Given the description of an element on the screen output the (x, y) to click on. 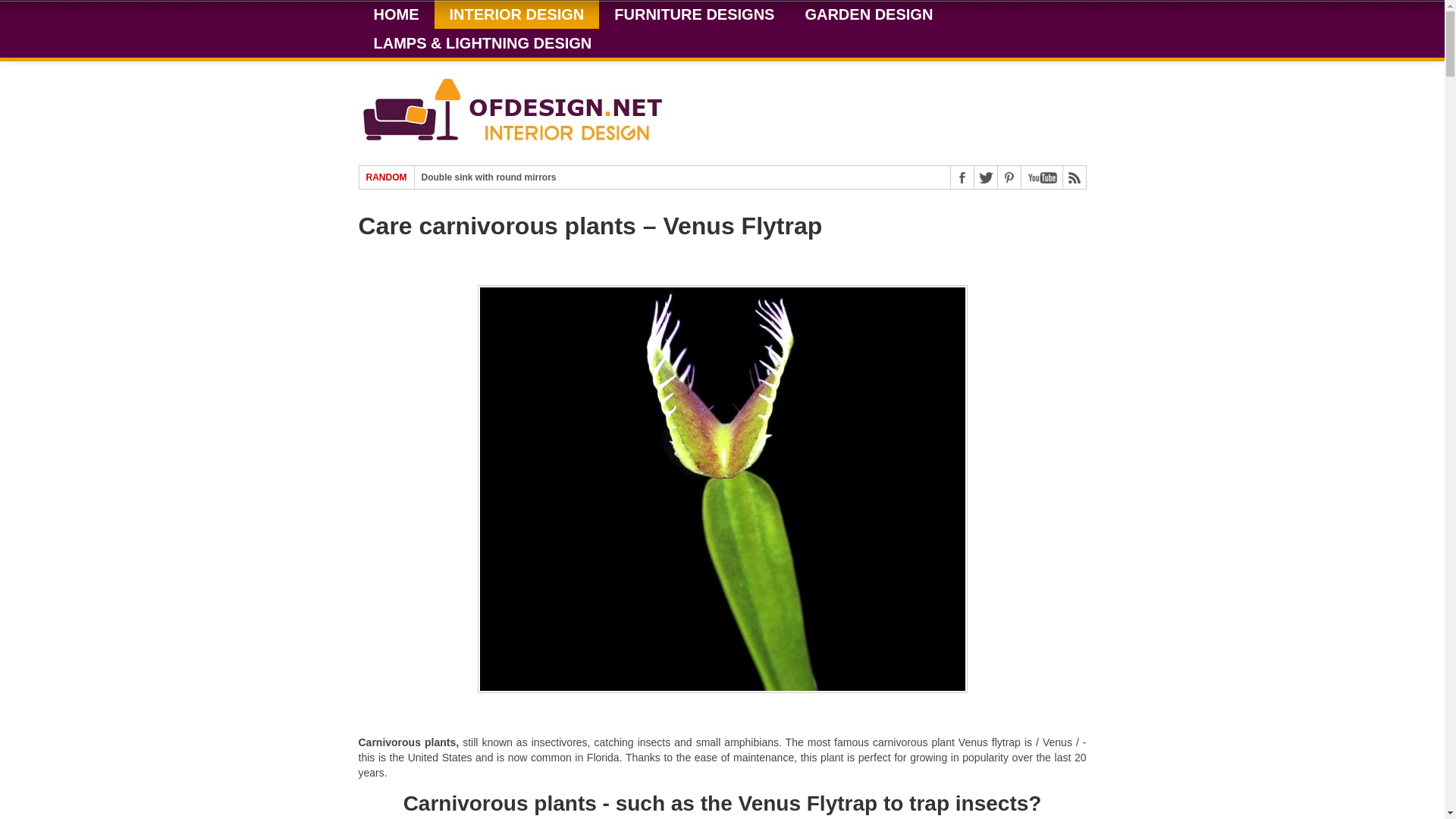
FURNITURE DESIGNS (693, 14)
HOME (395, 14)
GARDEN DESIGN (868, 14)
INTERIOR DESIGN (515, 14)
Double sink with round mirrors (489, 176)
